Given the description of an element on the screen output the (x, y) to click on. 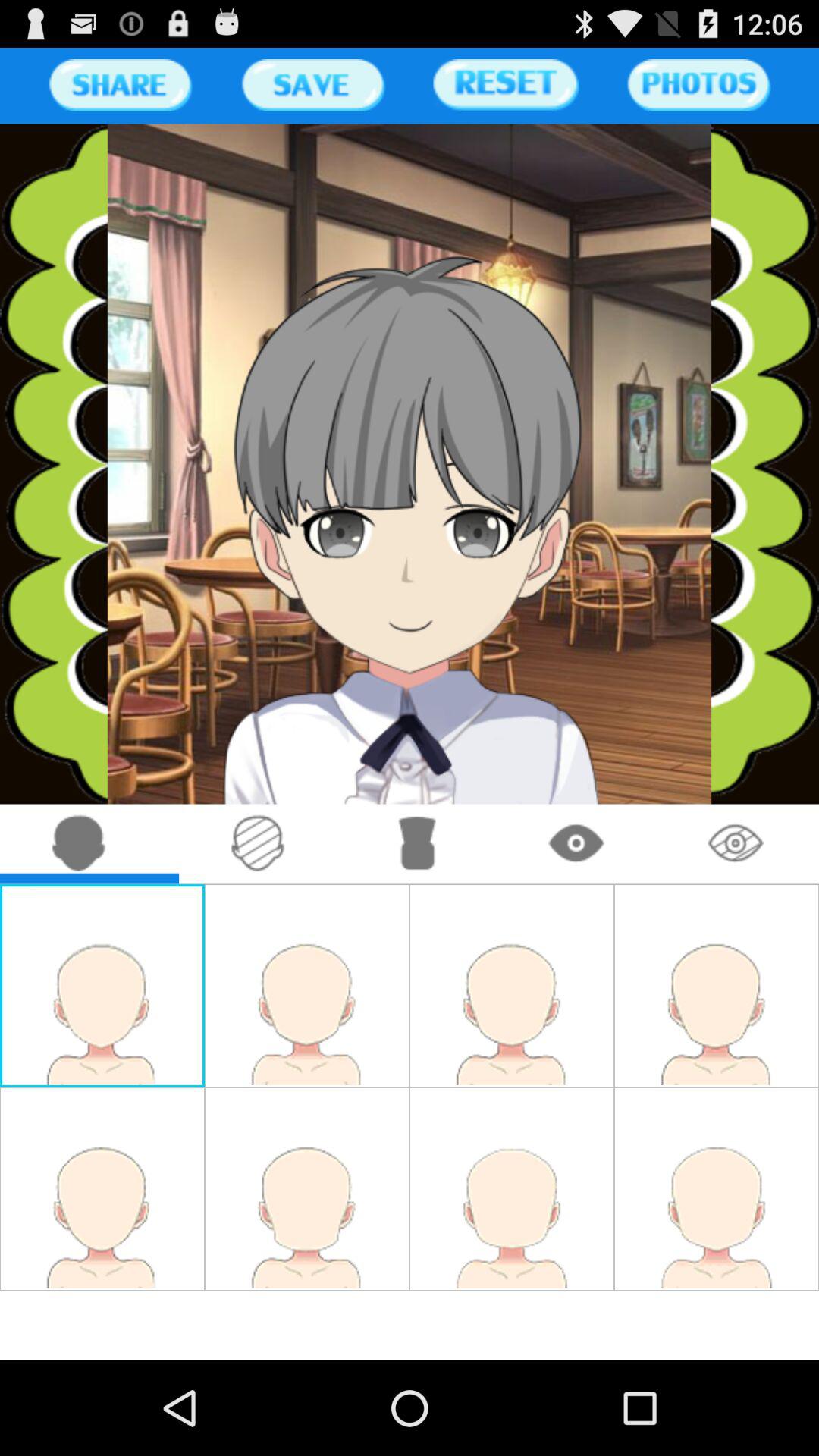
share the page (119, 85)
